Given the description of an element on the screen output the (x, y) to click on. 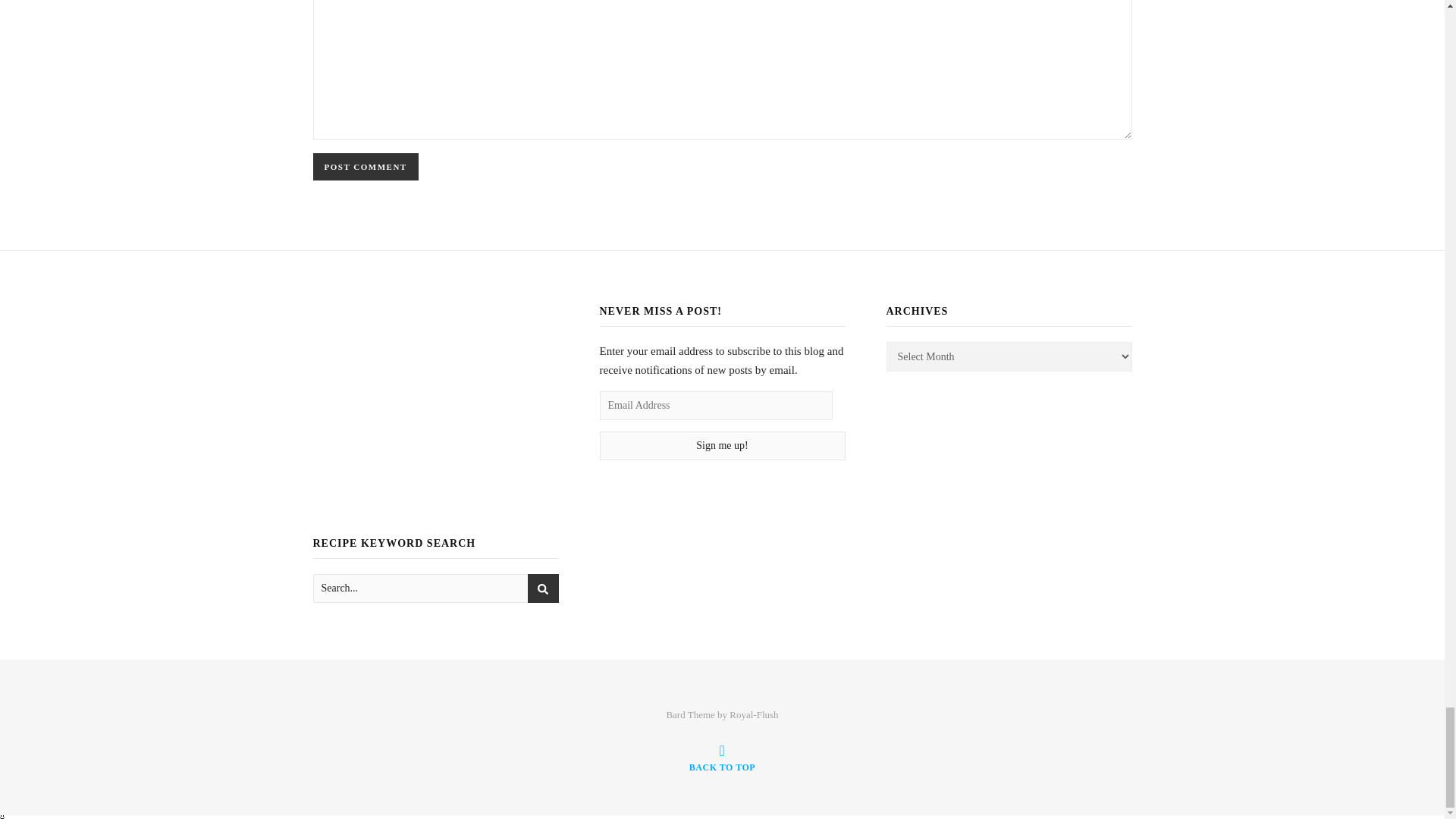
Post Comment (365, 166)
Sign me up! (721, 445)
BACK TO TOP (721, 758)
